Given the description of an element on the screen output the (x, y) to click on. 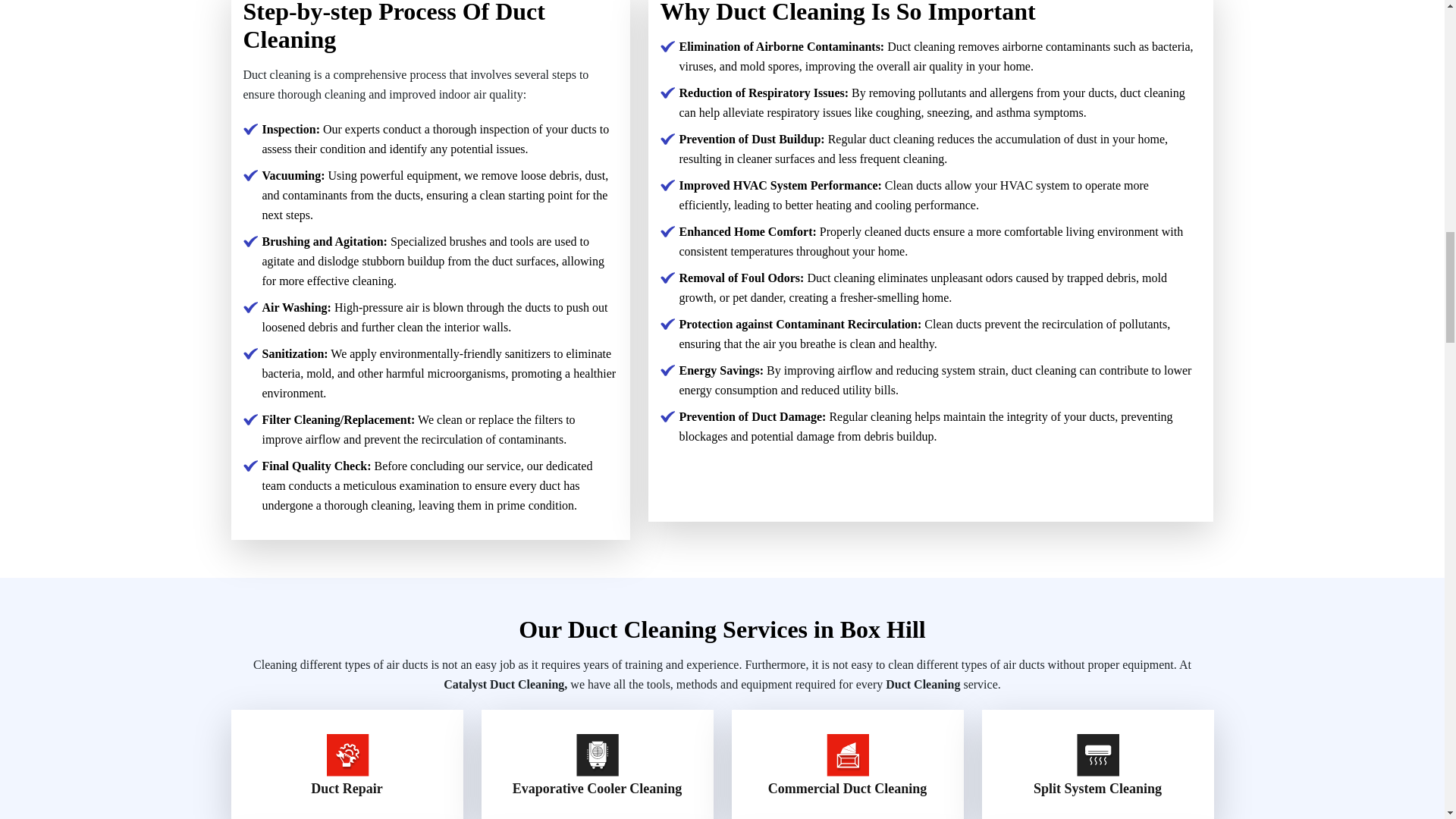
Commercial Duct Cleaning (847, 788)
Evaporative Cooler Cleaning (597, 788)
Duct Repair (346, 788)
Split System Cleaning (1097, 788)
